Given the description of an element on the screen output the (x, y) to click on. 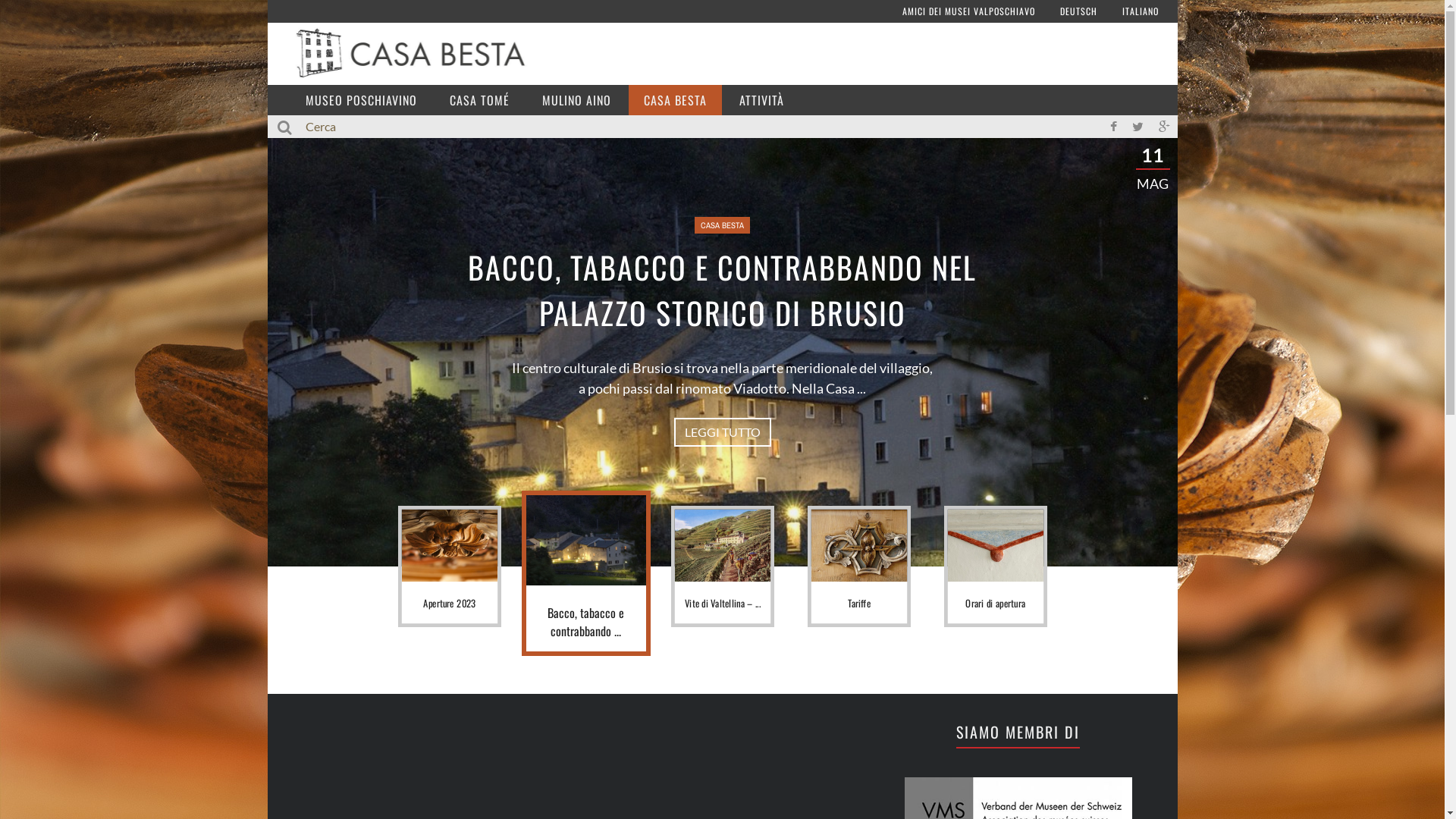
BACCO, TABACCO E CONTRABBANDO NEL PALAZZO STORICO DI BRUSIO Element type: text (721, 289)
MULINO AINO Element type: text (575, 99)
CASA BESTA Element type: text (721, 224)
AMICI DEI MUSEI VALPOSCHIAVO Element type: text (968, 11)
LEGGI TUTTO Element type: text (721, 431)
CASA BESTA Element type: text (674, 99)
MUSEO POSCHIAVINO Element type: text (360, 99)
DEUTSCH Element type: text (1078, 11)
ITALIANO Element type: text (1140, 11)
